Given the description of an element on the screen output the (x, y) to click on. 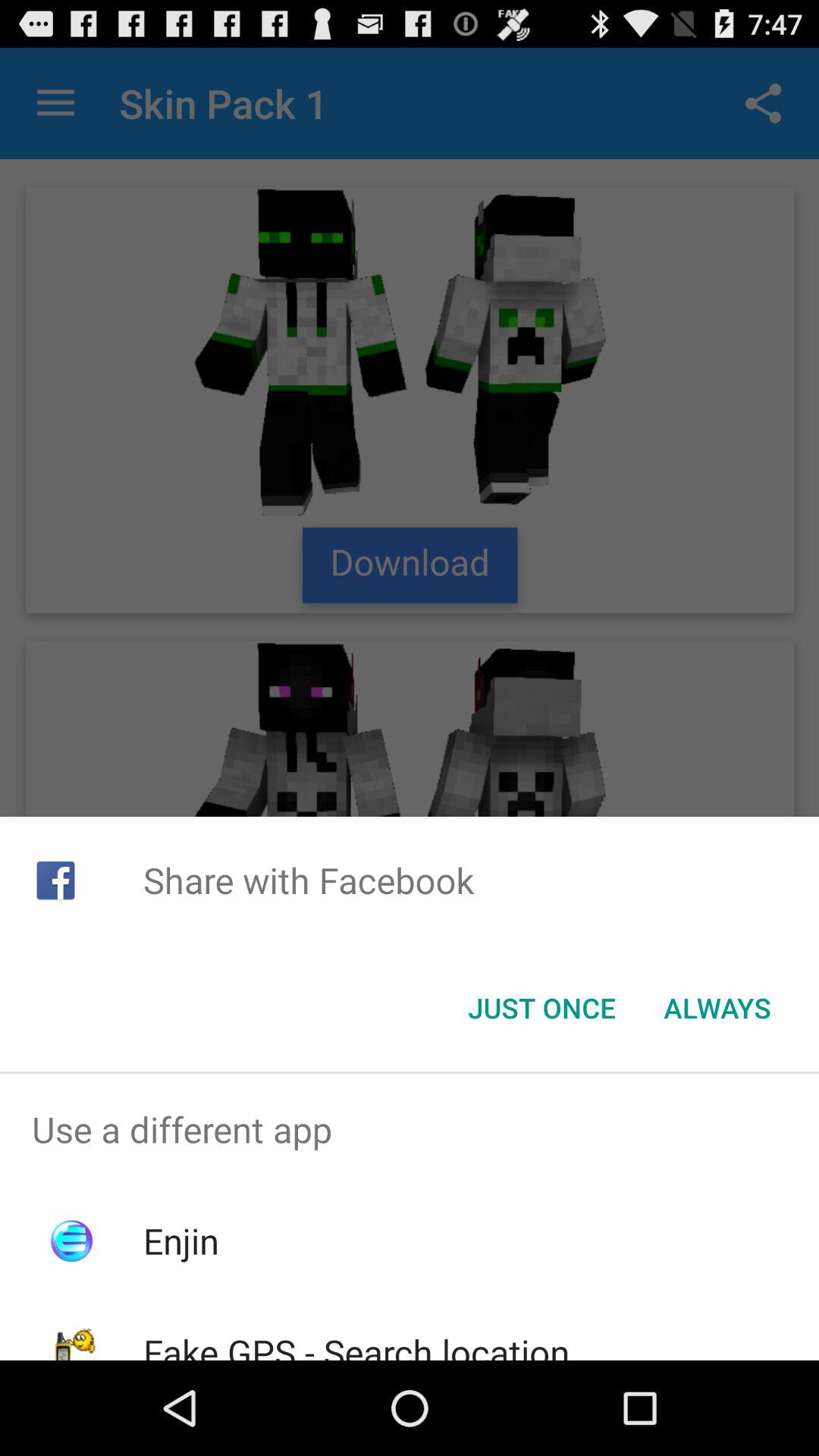
click the button at the bottom right corner (717, 1007)
